Given the description of an element on the screen output the (x, y) to click on. 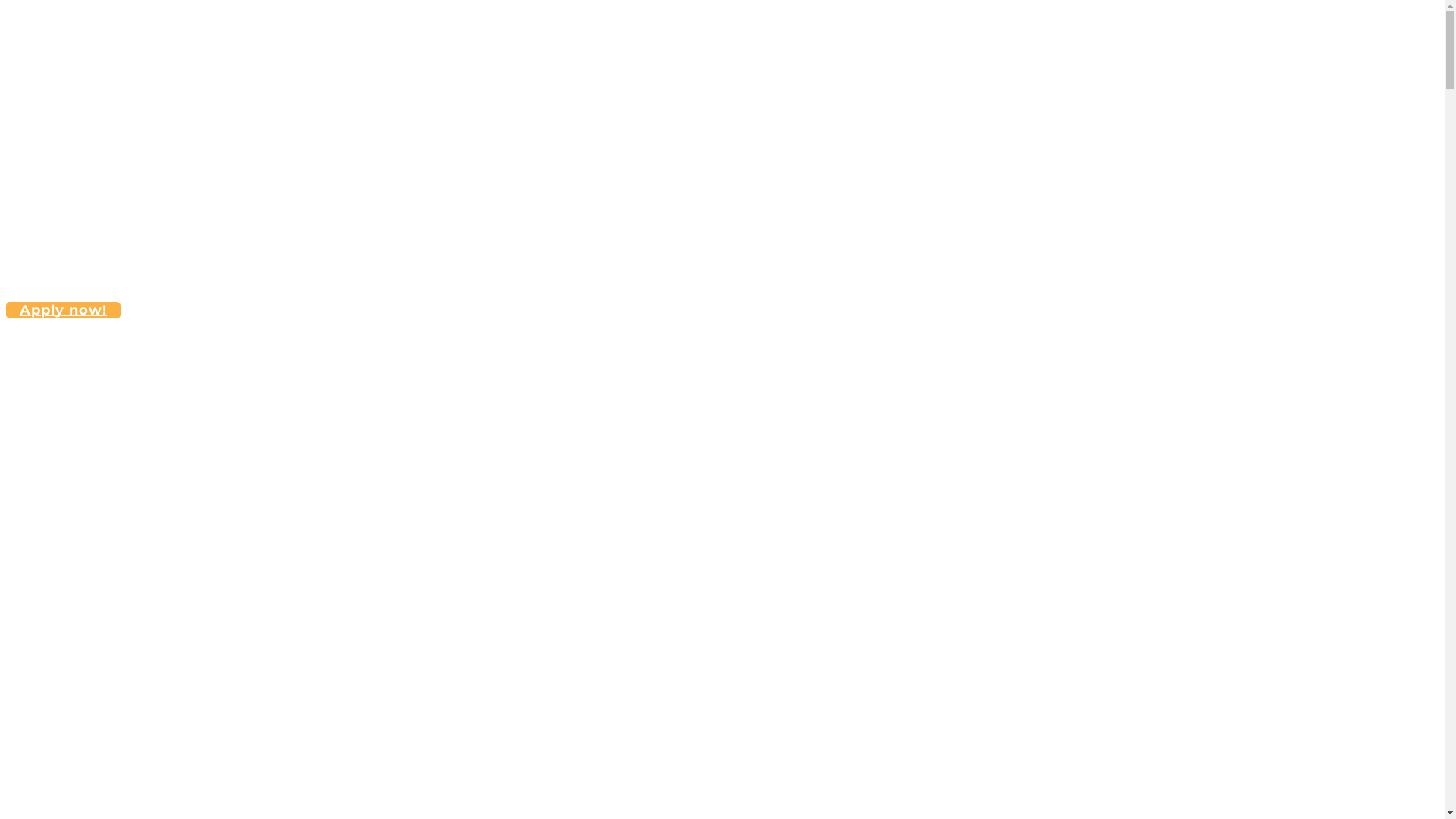
Apply now! Element type: text (63, 309)
